Given the description of an element on the screen output the (x, y) to click on. 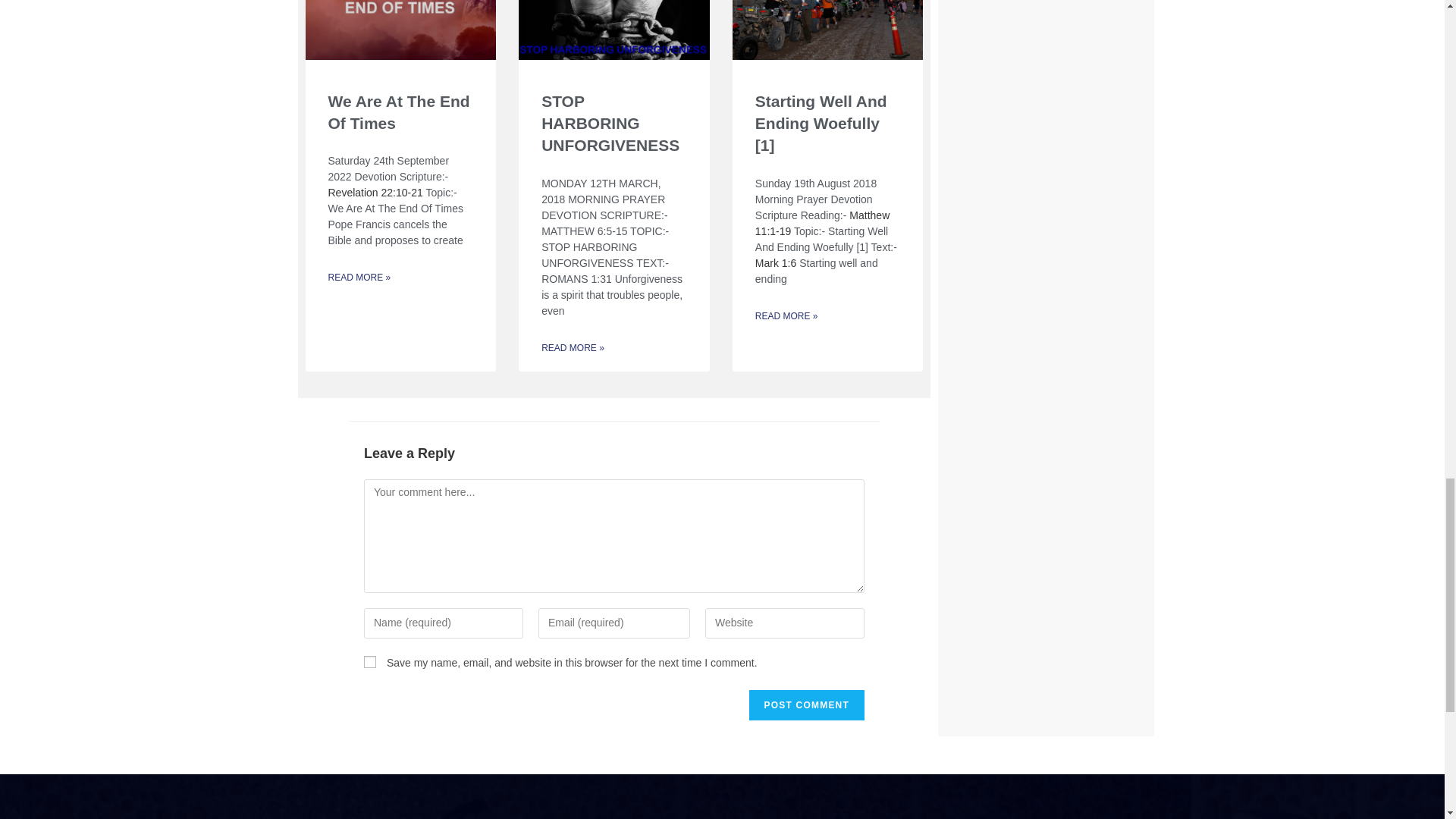
STOP HARBORING UNFORGIVENESS (610, 123)
We Are At The End Of Times (397, 111)
yes (369, 662)
Post Comment (806, 705)
Revelation 22:10-21 (374, 192)
